Given the description of an element on the screen output the (x, y) to click on. 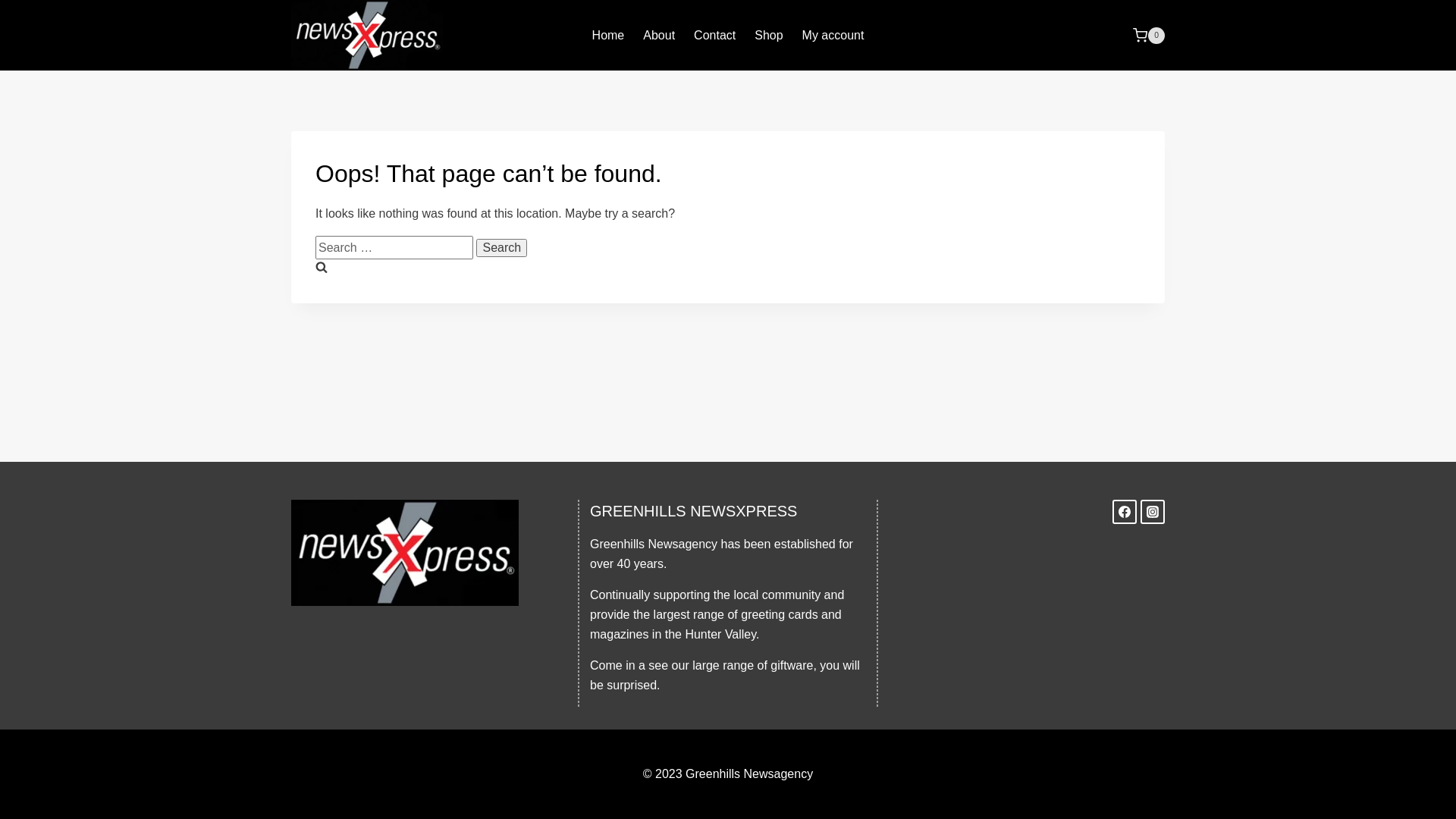
My account Element type: text (832, 35)
0 Element type: text (1148, 35)
Contact Element type: text (714, 35)
Home Element type: text (607, 35)
Search Element type: text (501, 247)
Shop Element type: text (768, 35)
About Element type: text (658, 35)
